Given the description of an element on the screen output the (x, y) to click on. 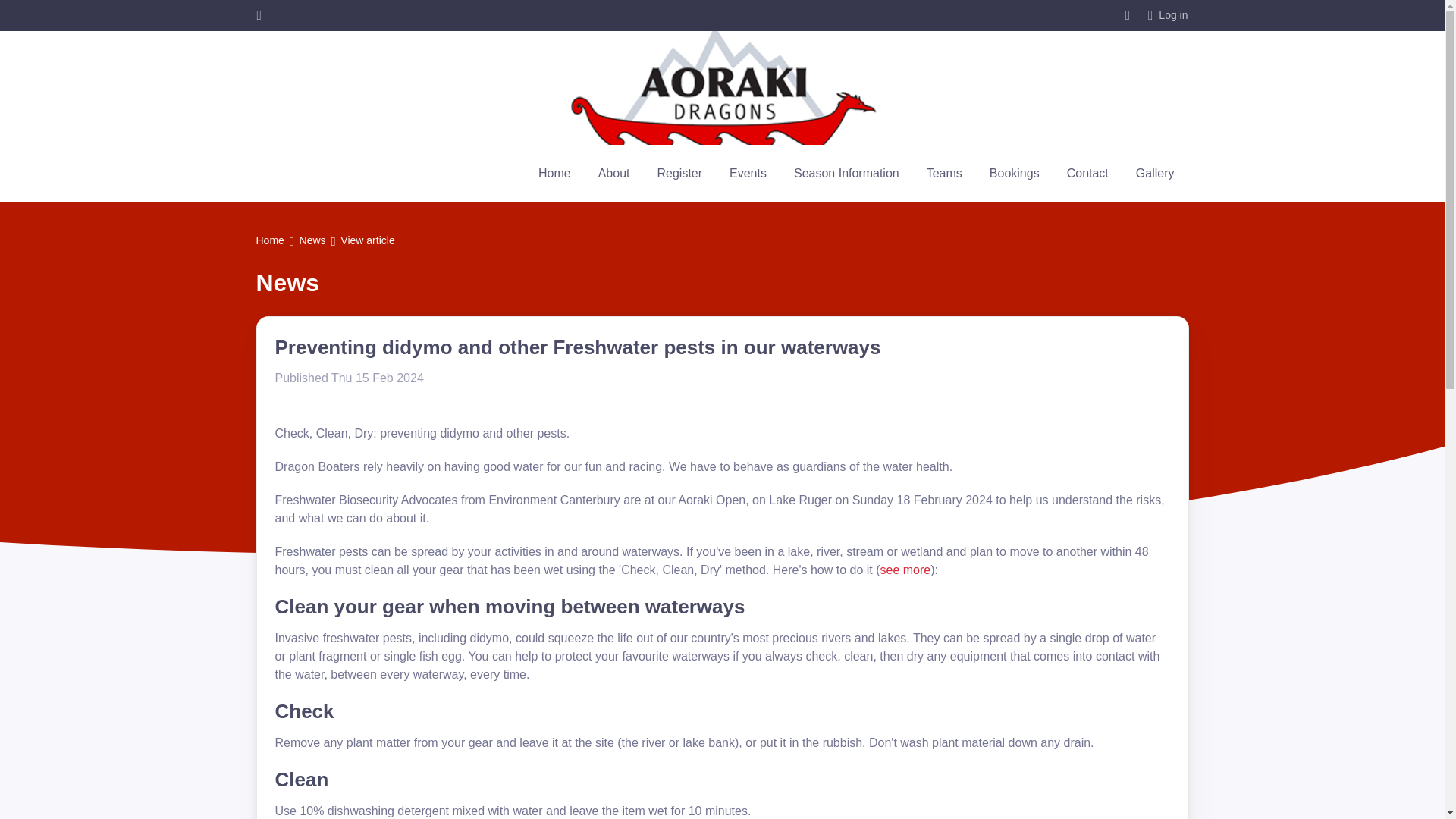
Teams (943, 173)
Bookings (1013, 173)
Gallery (1155, 173)
About (614, 173)
Events (748, 173)
Home (554, 173)
Season Information (846, 173)
Contact (1087, 173)
Register (679, 173)
Log in (1168, 15)
